Given the description of an element on the screen output the (x, y) to click on. 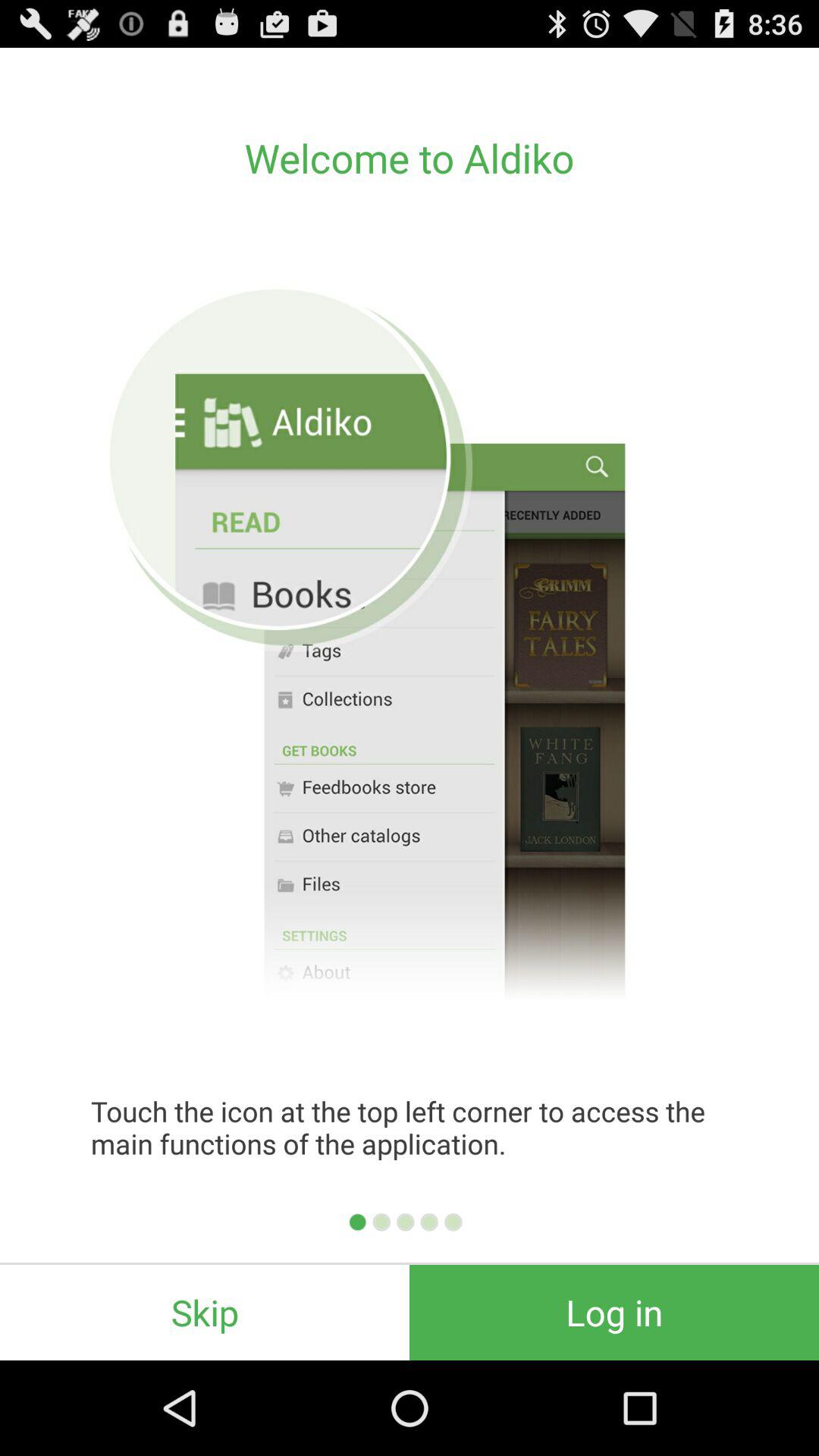
turn on item next to the skip (614, 1312)
